Given the description of an element on the screen output the (x, y) to click on. 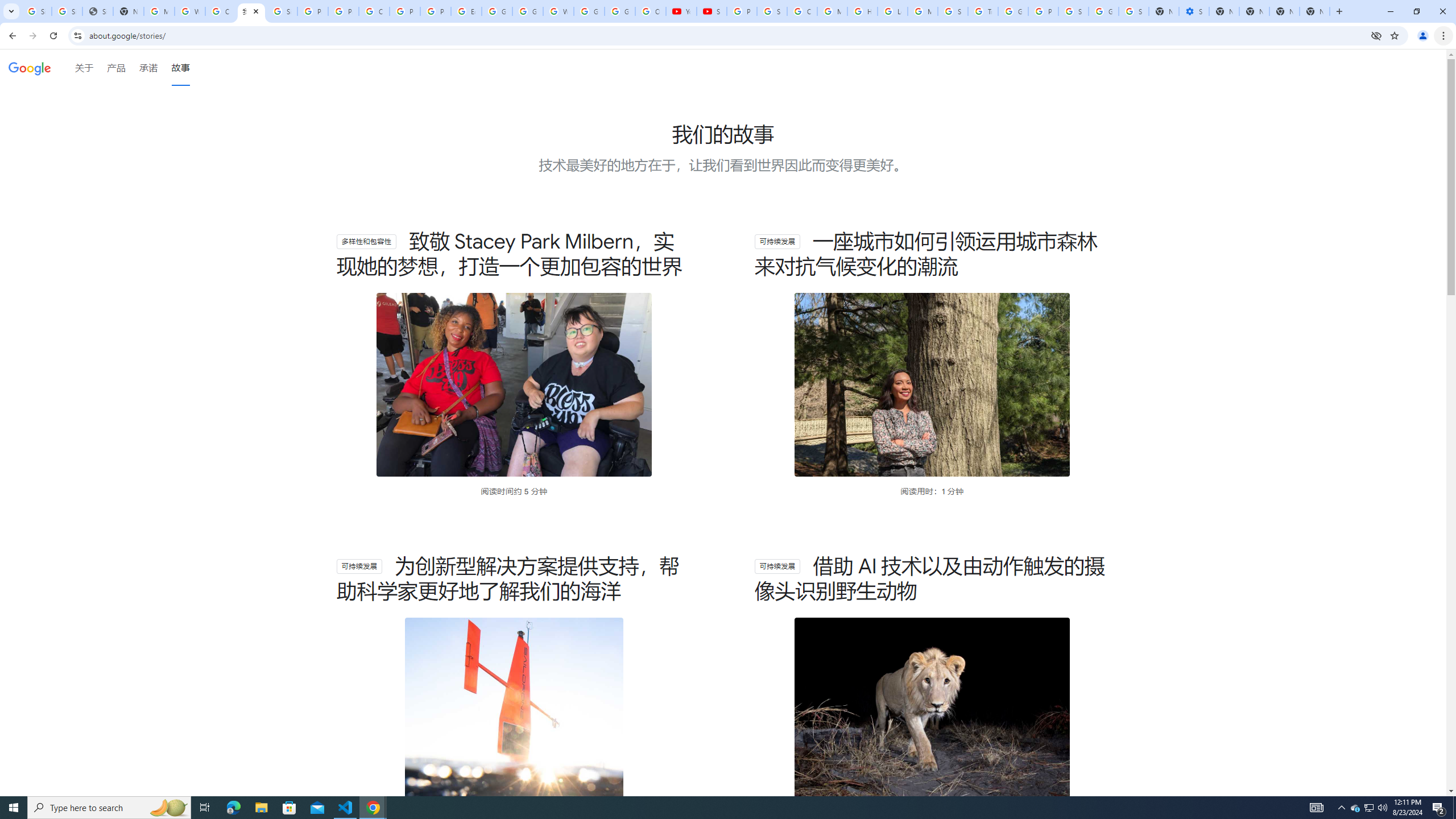
Google Cybersecurity Innovations - Google Safety Center (1103, 11)
Sign in - Google Accounts (1133, 11)
Google Slides: Sign-in (496, 11)
Google Ads - Sign in (1012, 11)
